Given the description of an element on the screen output the (x, y) to click on. 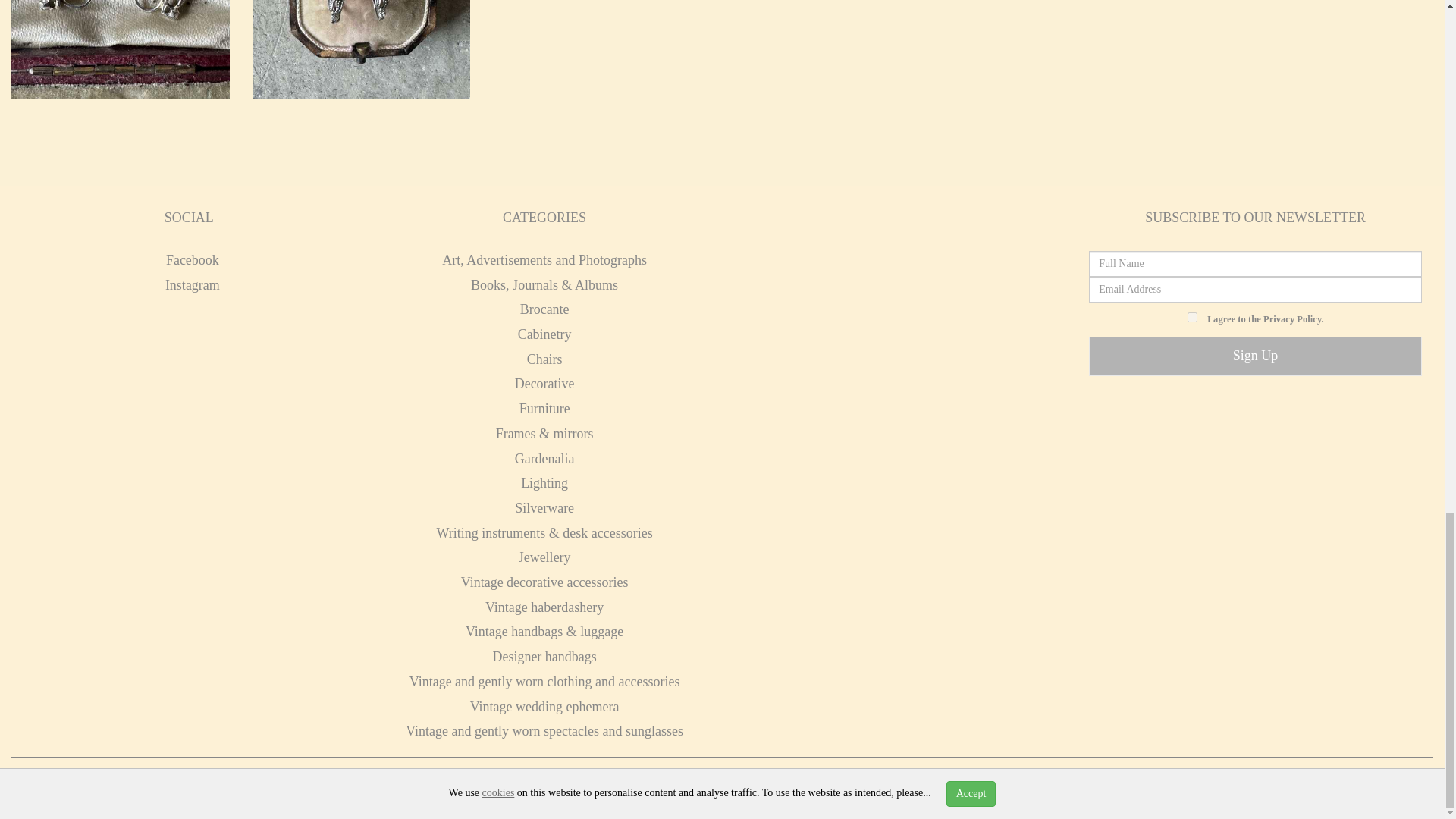
Decorative (545, 383)
Cabinetry (545, 334)
  Instagram (188, 284)
Vintage haberdashery (544, 607)
Gardenalia (545, 458)
Vintage wedding ephemera (545, 706)
Silverware (544, 507)
  Facebook (188, 259)
Vintage and gently worn spectacles and sunglasses (544, 730)
Brocante (544, 309)
Art, Advertisements and Photographs (544, 259)
Designer handbags (543, 656)
Lighting (544, 482)
Jewellery (544, 557)
Furniture (544, 408)
